Given the description of an element on the screen output the (x, y) to click on. 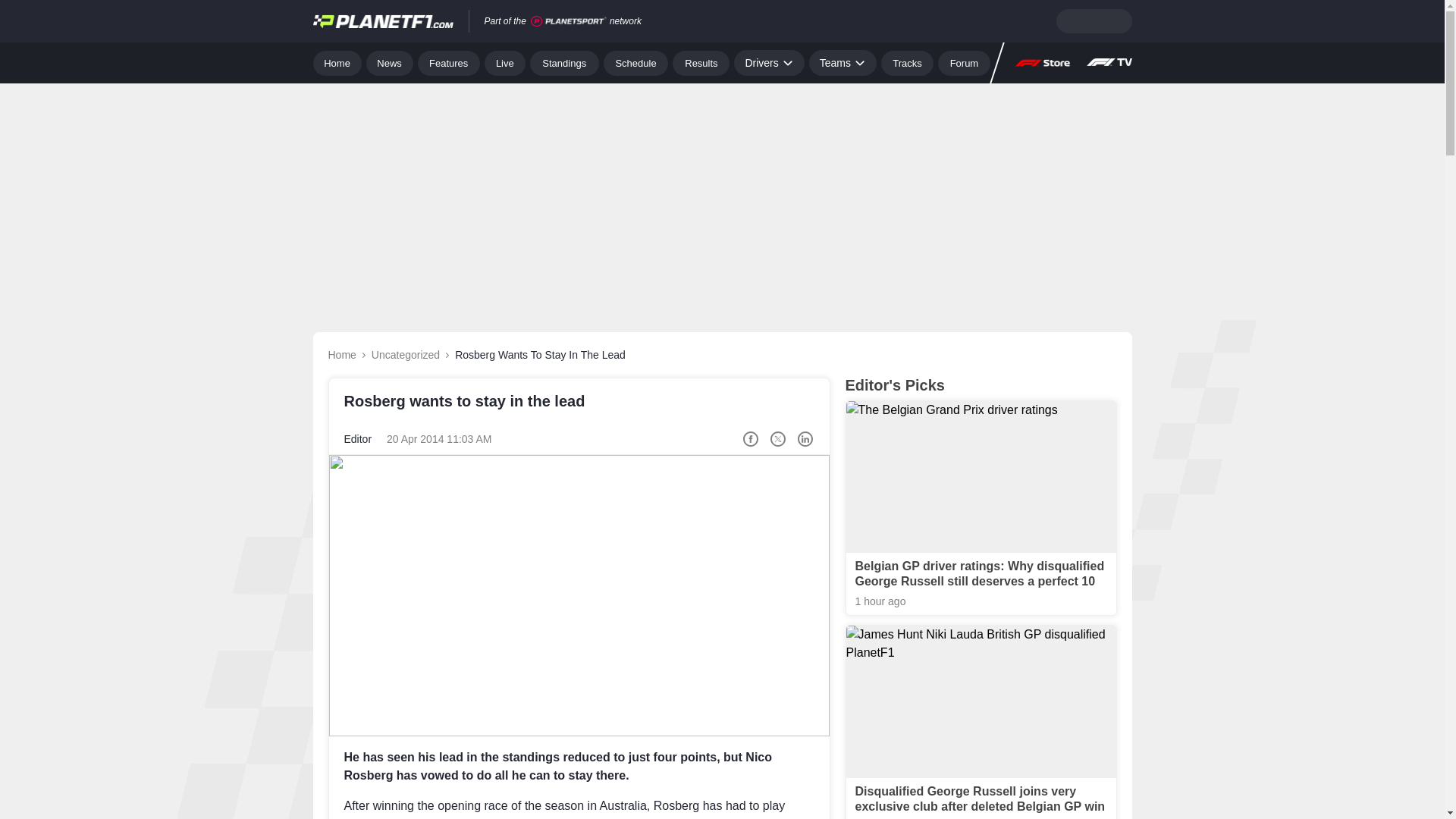
Live (504, 62)
Standings (563, 62)
Home (337, 62)
News (389, 62)
Drivers (768, 62)
Schedule (636, 62)
Results (700, 62)
Teams (842, 62)
Features (448, 62)
